Given the description of an element on the screen output the (x, y) to click on. 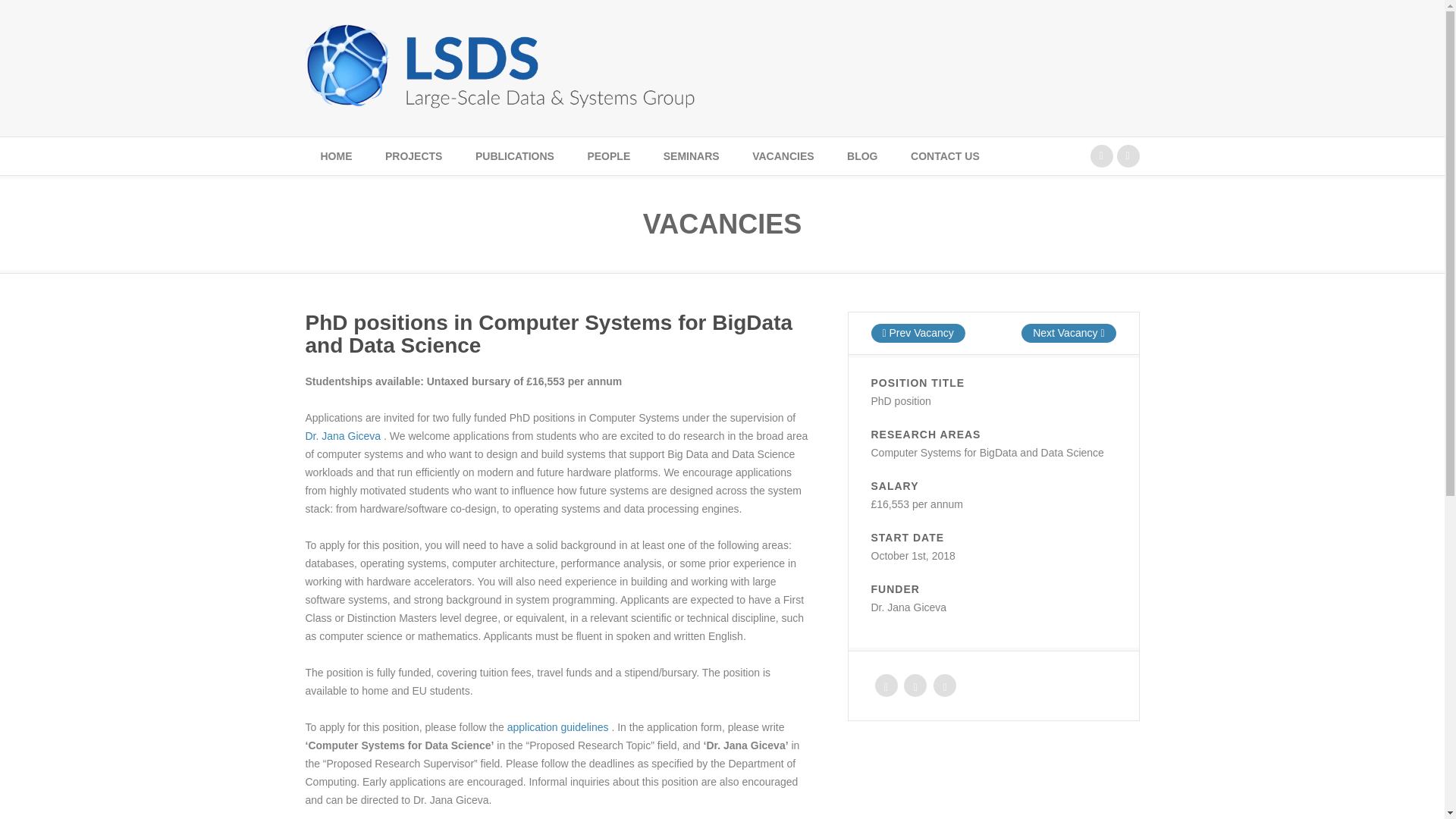
SEMINARS (691, 156)
CONTACT US (944, 156)
HOME (335, 156)
Dr. Jana Giceva (344, 435)
Next Vacancy (1068, 333)
PEOPLE (608, 156)
BLOG (861, 156)
VACANCIES (782, 156)
PUBLICATIONS (514, 156)
PROJECTS (413, 156)
Prev Vacancy (916, 333)
application guidelines (558, 727)
